Given the description of an element on the screen output the (x, y) to click on. 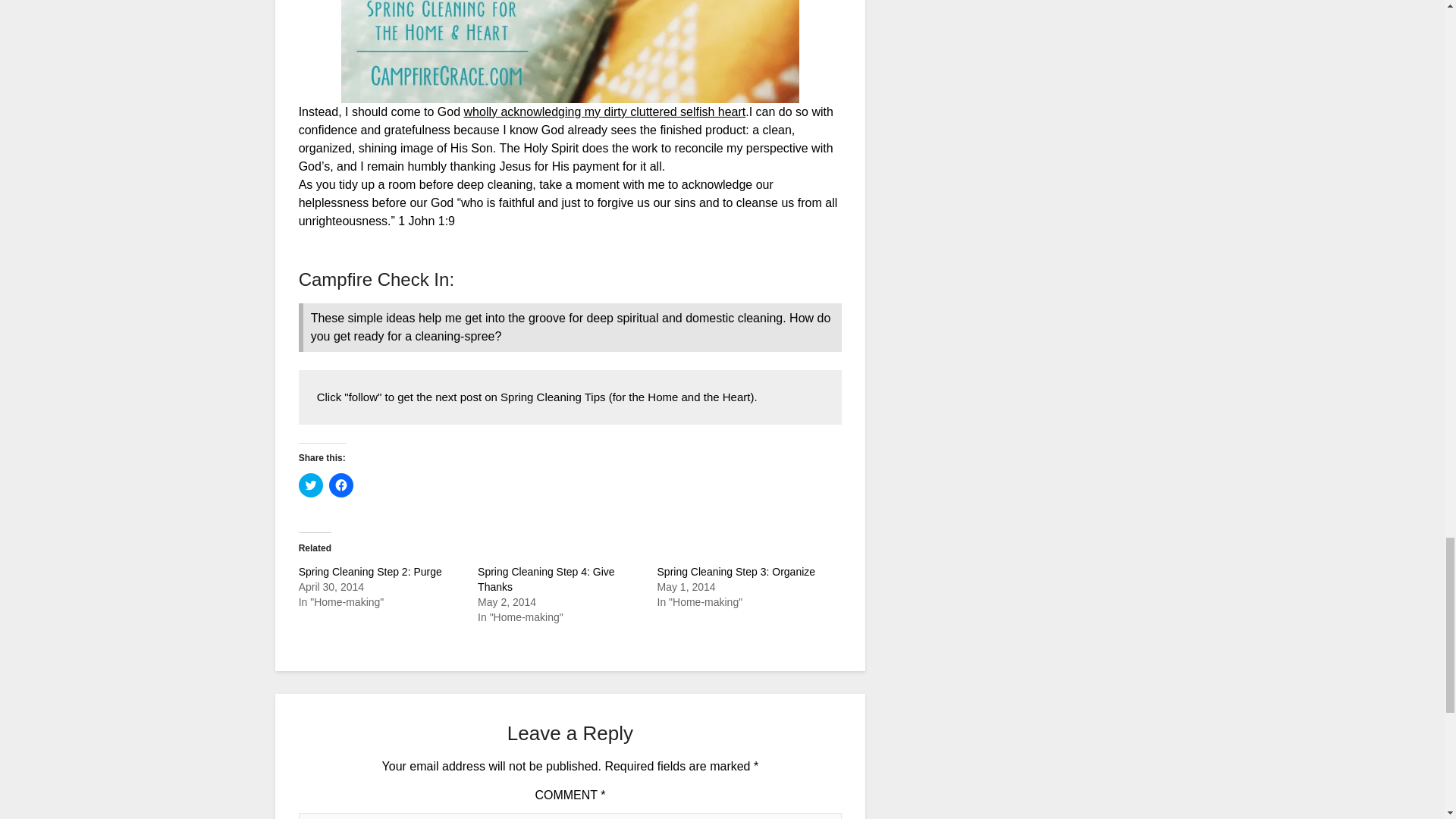
Spring Cleaning Step 3: Organize (736, 571)
Spring Cleaning Step 3: Organize (736, 571)
Spring Cleaning Step 2: Purge (370, 571)
wholly acknowledging my dirty cluttered selfish heart (604, 111)
Click to share on Facebook (341, 485)
Click to share on Twitter (310, 485)
Spring Cleaning Step 4: Give Thanks (545, 578)
Spring Cleaning Step 4: Give Thanks (545, 578)
Spring Cleaning Step 2: Purge (370, 571)
